Given the description of an element on the screen output the (x, y) to click on. 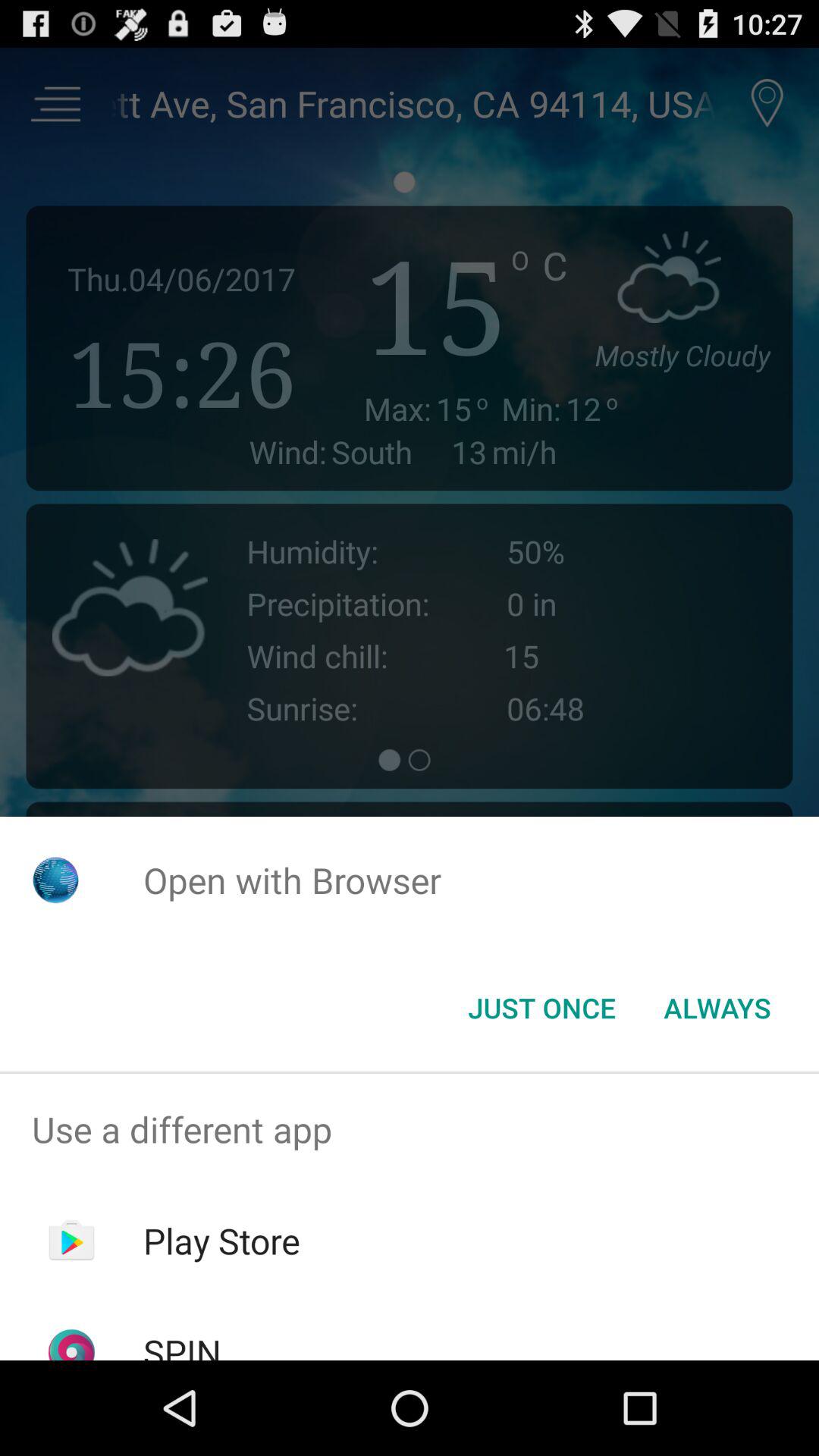
turn on the app below use a different (221, 1240)
